Given the description of an element on the screen output the (x, y) to click on. 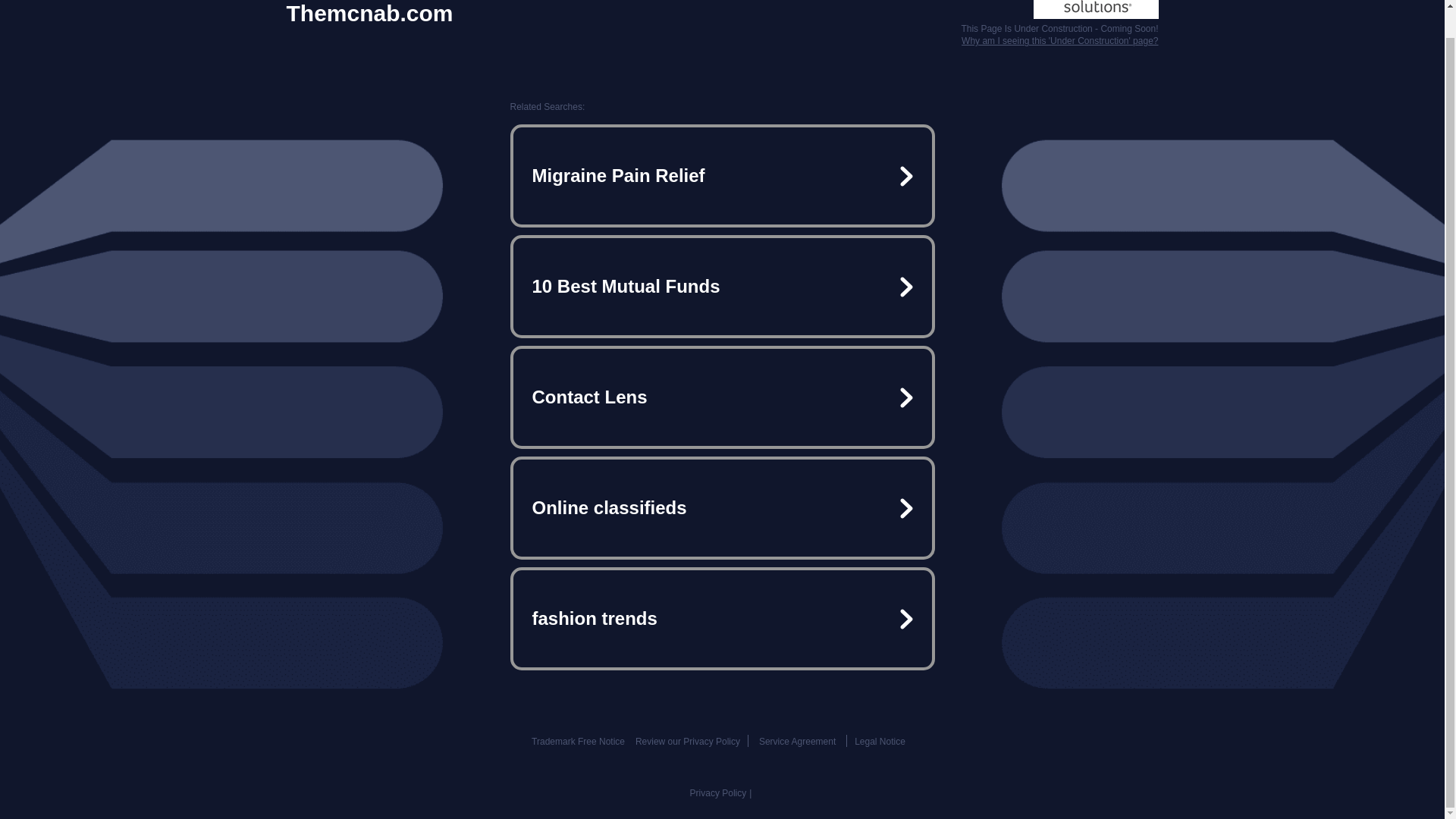
Trademark Free Notice (577, 741)
Online classifieds (721, 507)
10 Best Mutual Funds (721, 286)
fashion trends (721, 618)
Review our Privacy Policy (686, 741)
Why am I seeing this 'Under Construction' page? (1058, 40)
10 Best Mutual Funds (721, 286)
Contact Lens (721, 396)
Migraine Pain Relief (721, 175)
fashion trends (721, 618)
